Given the description of an element on the screen output the (x, y) to click on. 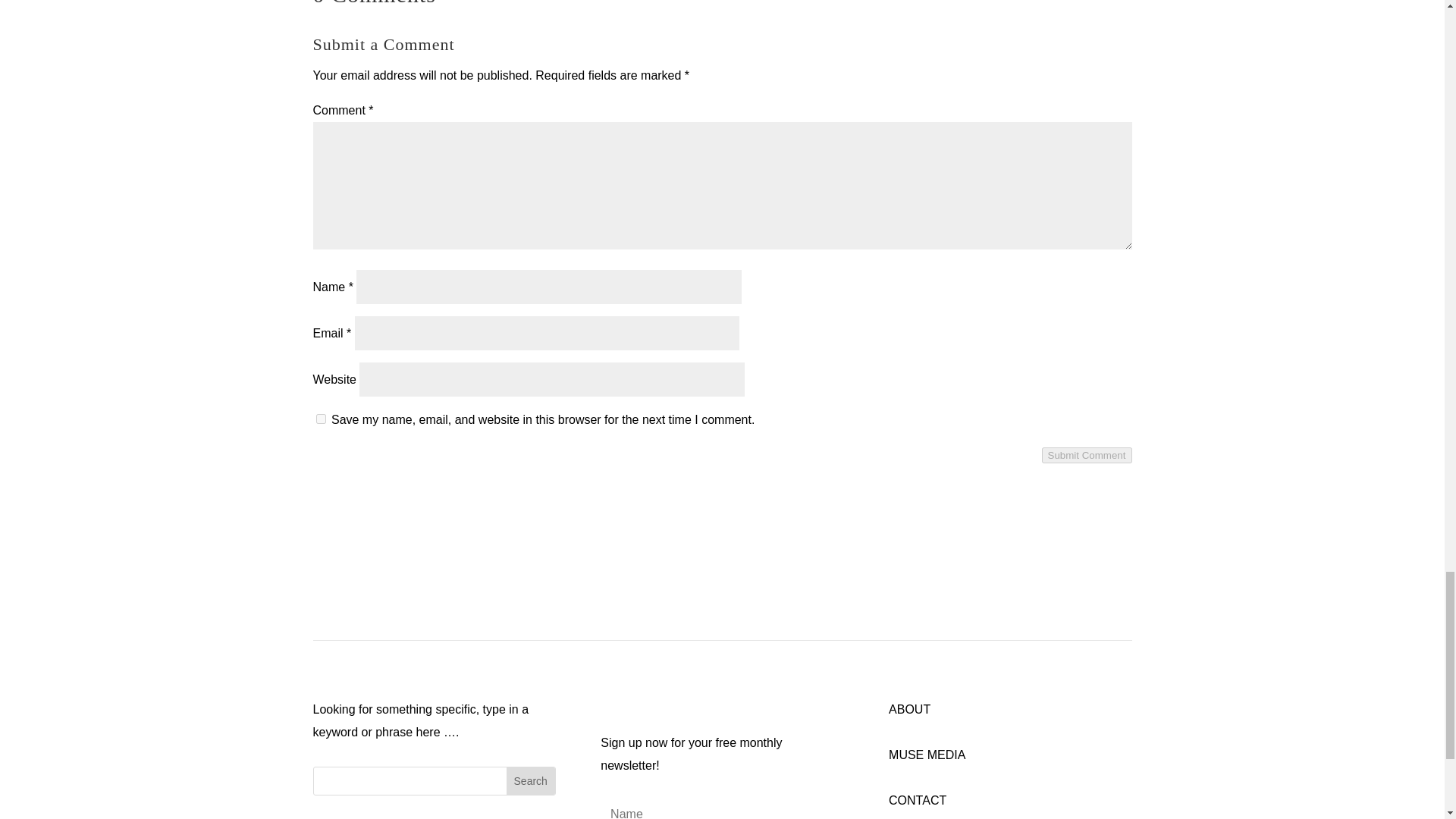
Search (530, 780)
yes (319, 419)
Search (530, 780)
